Given the description of an element on the screen output the (x, y) to click on. 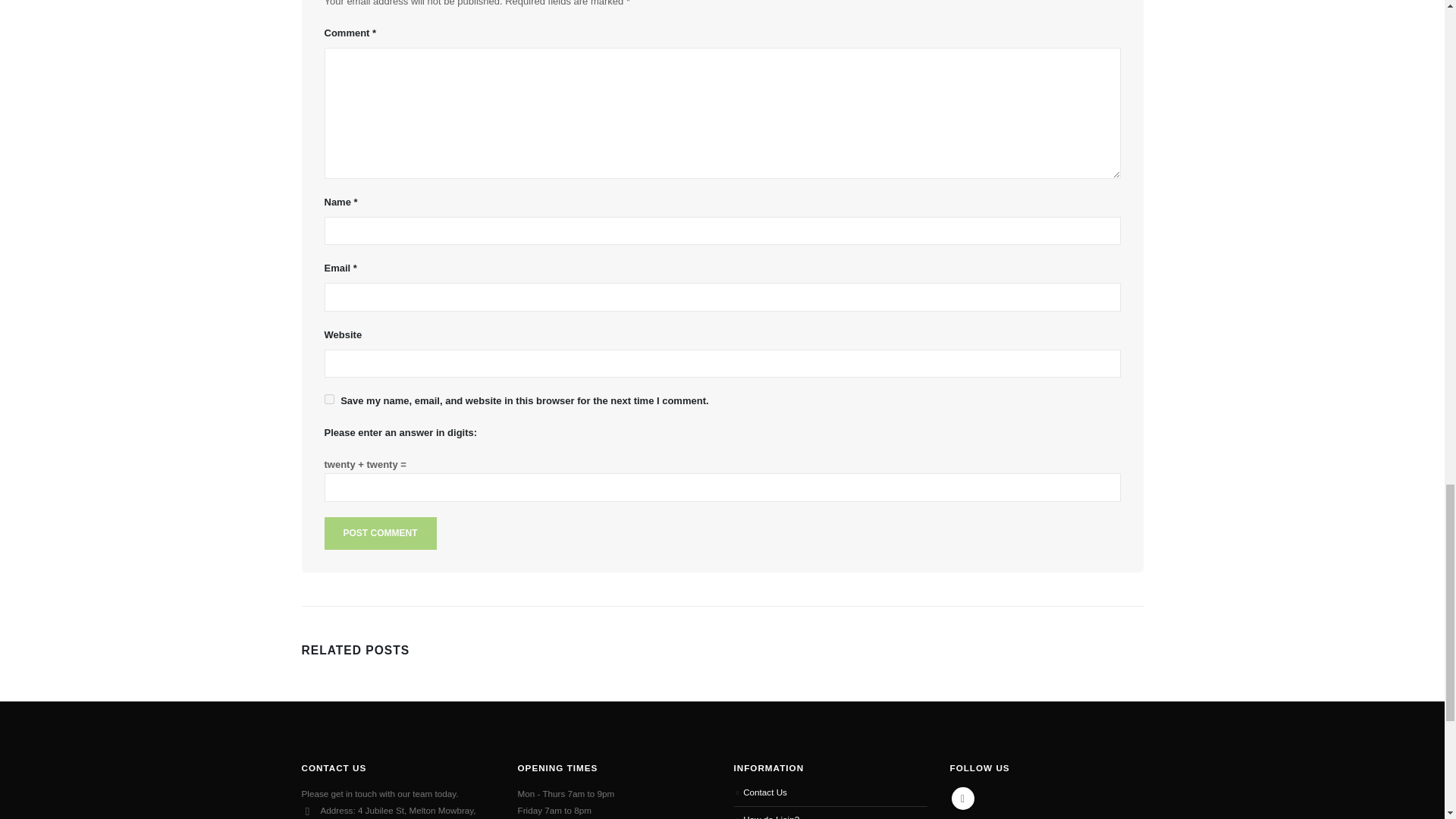
yes (329, 398)
Post Comment (380, 532)
Post Comment (380, 532)
Facebook (962, 798)
